Given the description of an element on the screen output the (x, y) to click on. 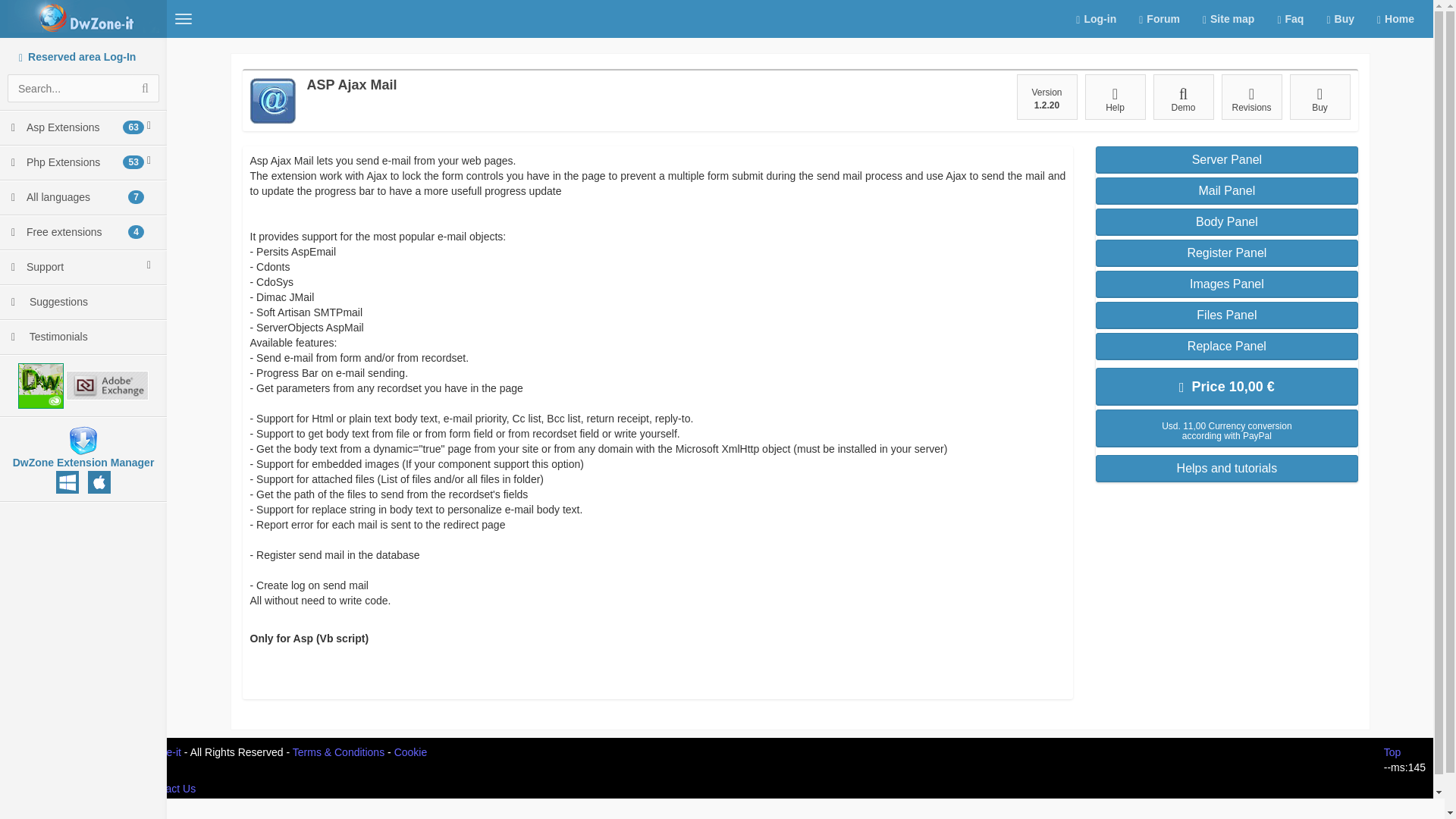
Version (1046, 96)
DwZone Extension Manager (82, 127)
Buy (83, 440)
Testimonials (1318, 96)
Currency conversion (82, 337)
Site map (82, 232)
